Given the description of an element on the screen output the (x, y) to click on. 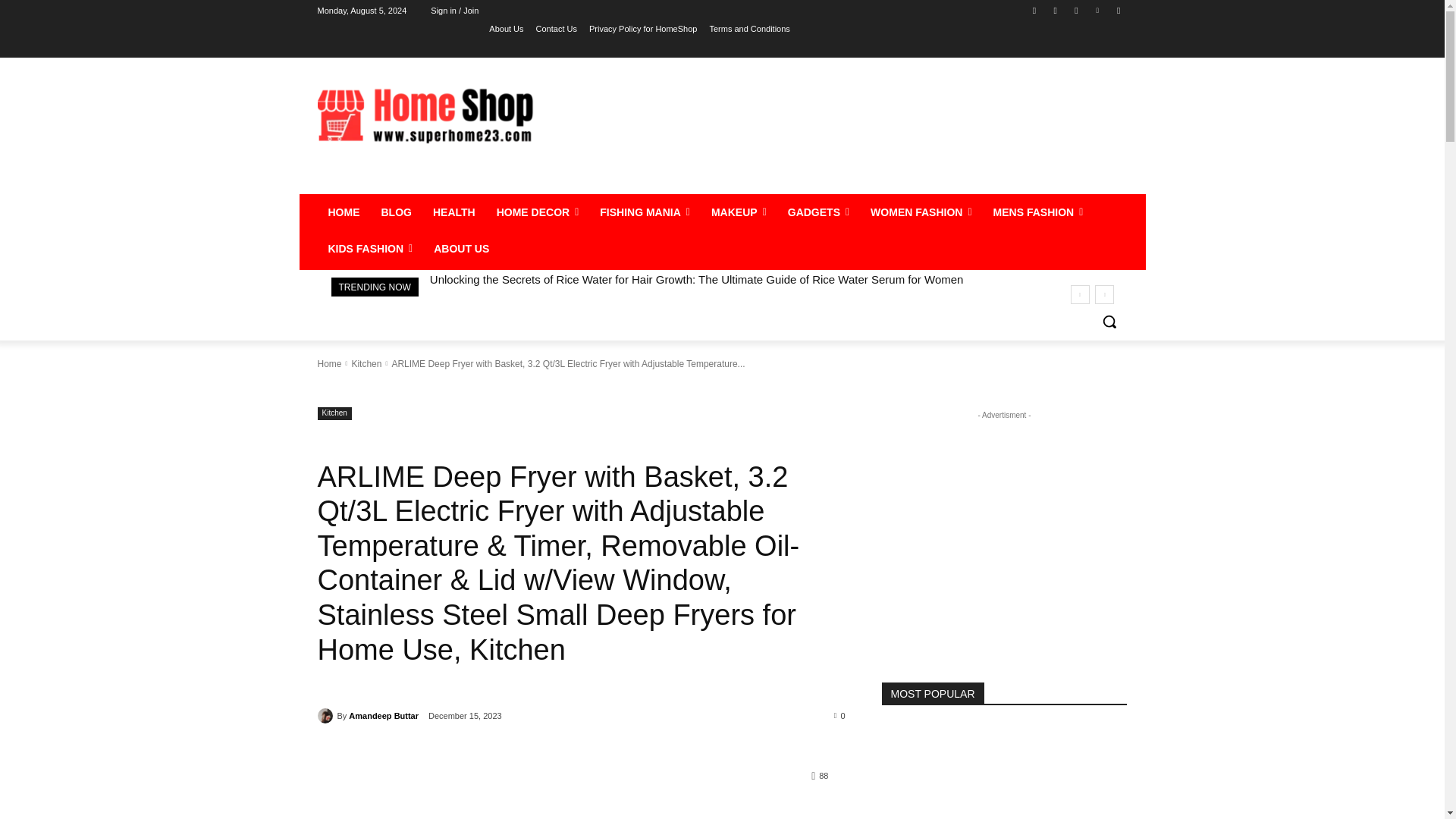
Facebook (1034, 9)
Instagram (1055, 9)
Advertisement (846, 130)
Twitter (1075, 9)
Youtube (1117, 9)
Vimeo (1097, 9)
